Given the description of an element on the screen output the (x, y) to click on. 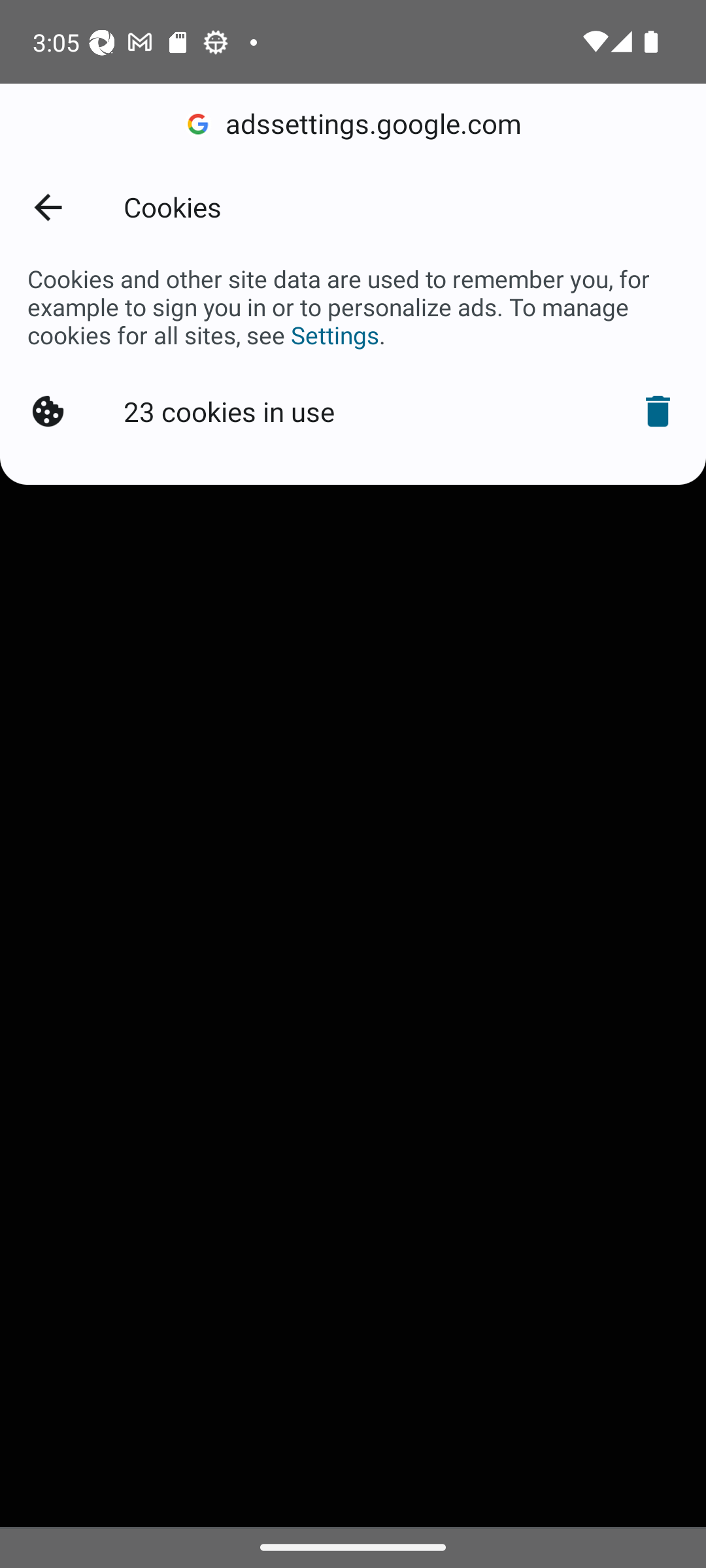
adssettings.google.com (353, 124)
Back (47, 206)
23 cookies in use Clear cookies? (353, 411)
